Given the description of an element on the screen output the (x, y) to click on. 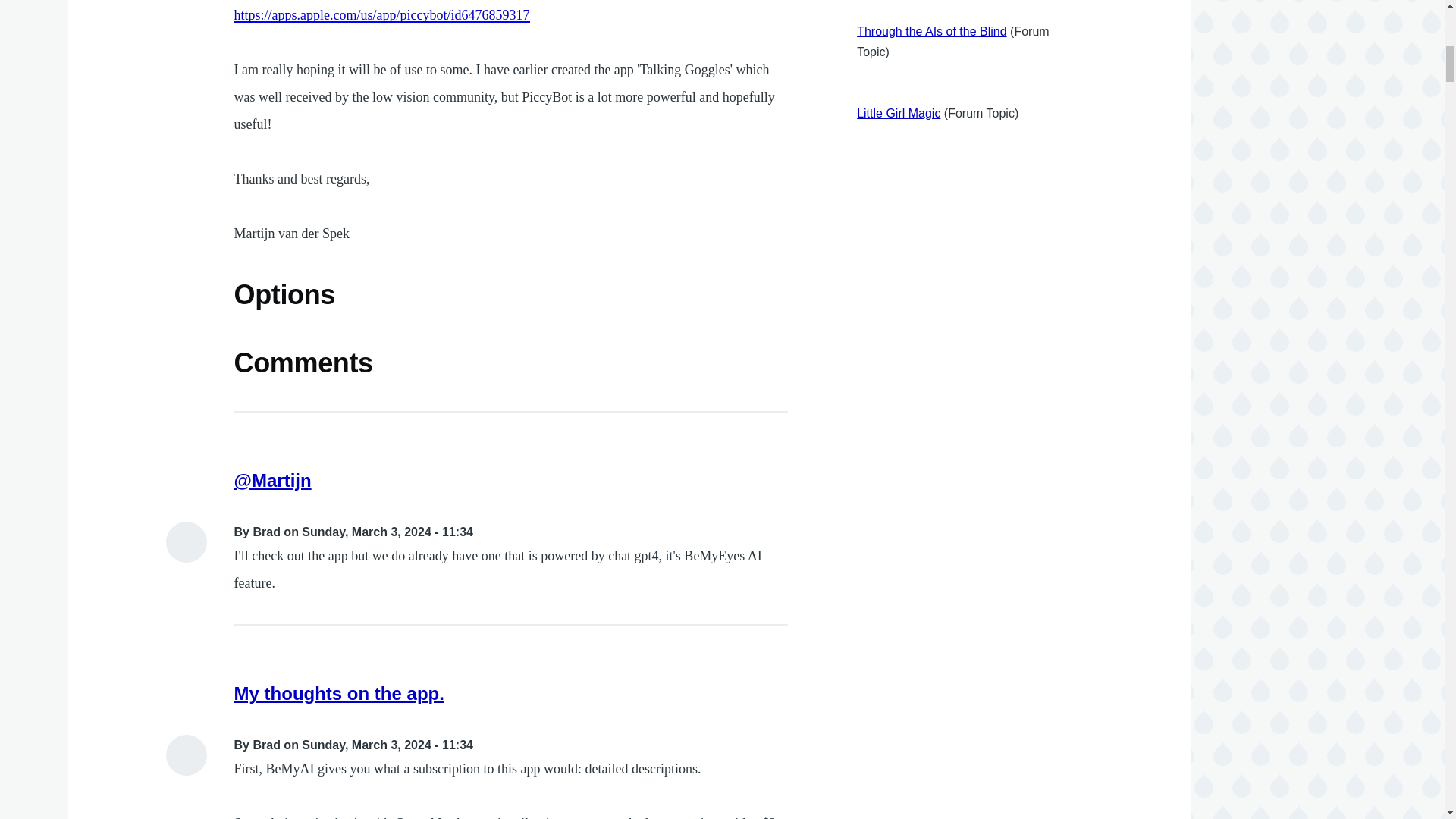
My thoughts on the app. (339, 693)
